Given the description of an element on the screen output the (x, y) to click on. 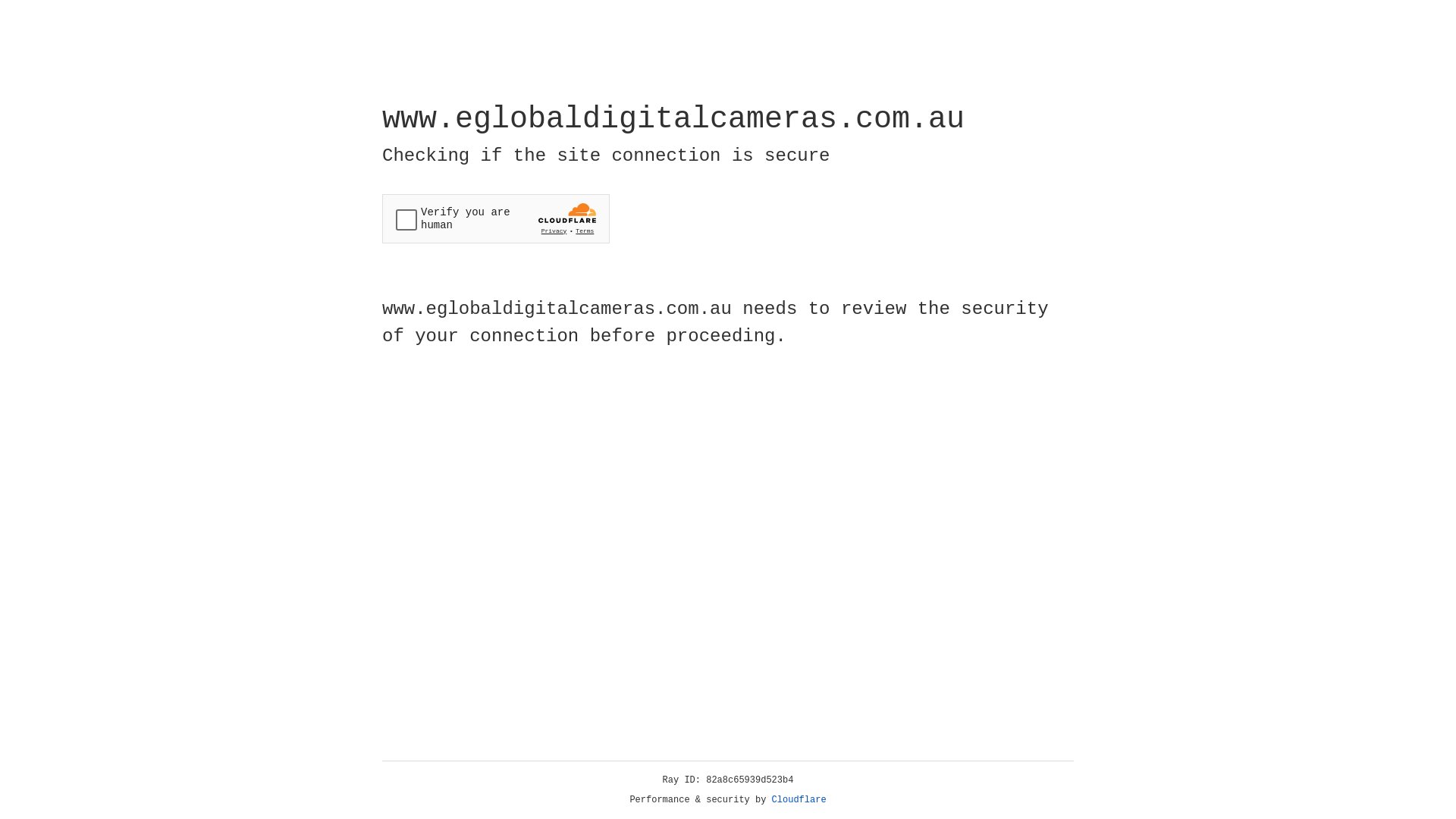
Widget containing a Cloudflare security challenge Element type: hover (495, 218)
Cloudflare Element type: text (798, 799)
